Given the description of an element on the screen output the (x, y) to click on. 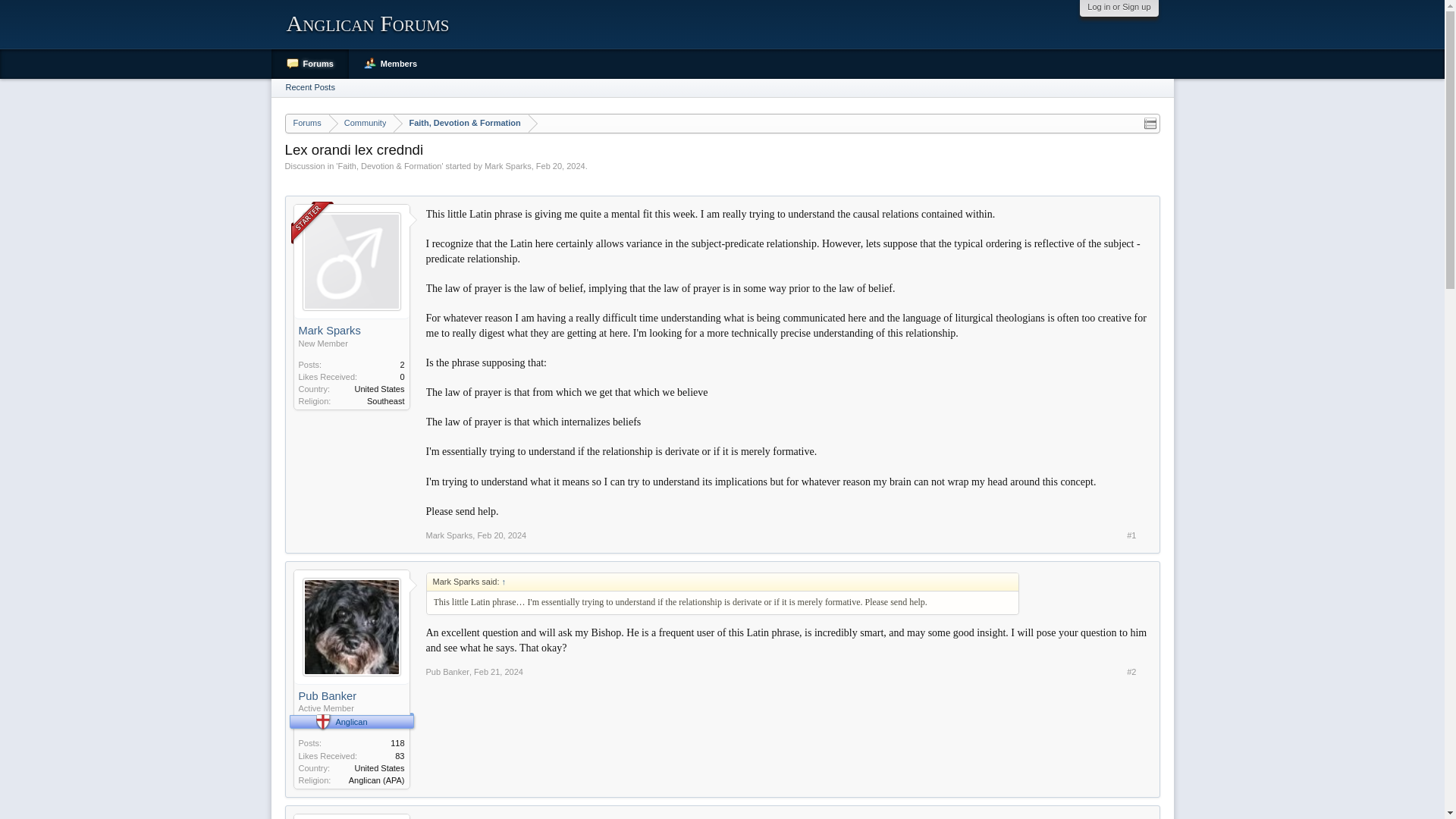
Mark Sparks (351, 330)
Pub Banker (447, 671)
Mark Sparks (449, 534)
Mark Sparks (507, 165)
Permalink (501, 534)
Pub Banker (351, 696)
118 (397, 742)
Log in or Sign up (1118, 6)
Permalink (498, 671)
Feb 20, 2024 at 3:16 PM (560, 165)
Open quick navigation (1149, 123)
Community (361, 123)
Feb 20, 2024 (560, 165)
Forums (307, 123)
Feb 21, 2024 (498, 671)
